Given the description of an element on the screen output the (x, y) to click on. 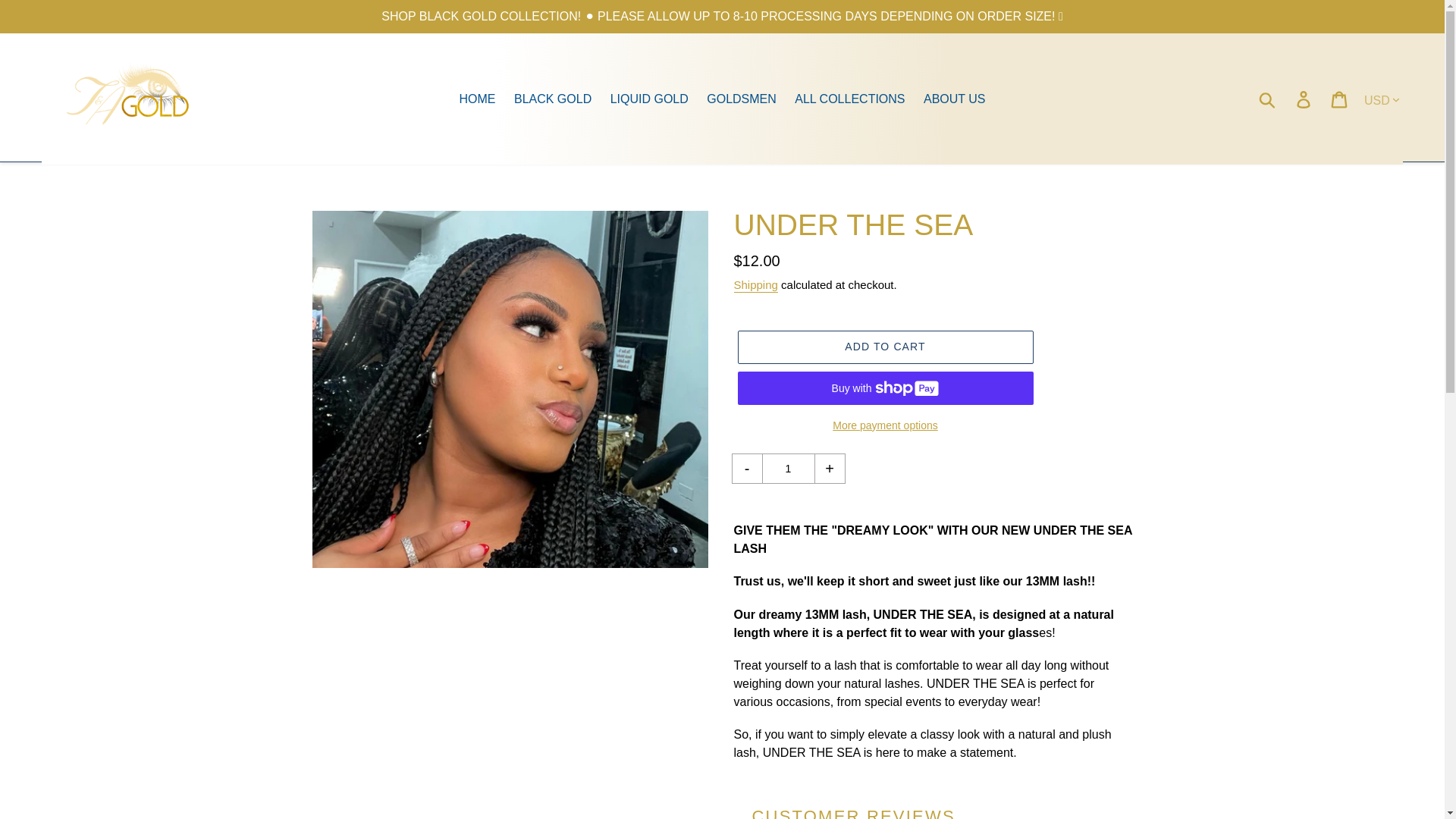
Submit (1268, 98)
Shipping (755, 285)
ALL COLLECTIONS (849, 98)
ABOUT US (953, 98)
1 (787, 468)
ADD TO CART (884, 346)
GOLDSMEN (741, 98)
Log in (1304, 98)
Cart (1340, 98)
HOME (477, 98)
LIQUID GOLD (648, 98)
More payment options (884, 425)
BLACK GOLD (552, 98)
